Given the description of an element on the screen output the (x, y) to click on. 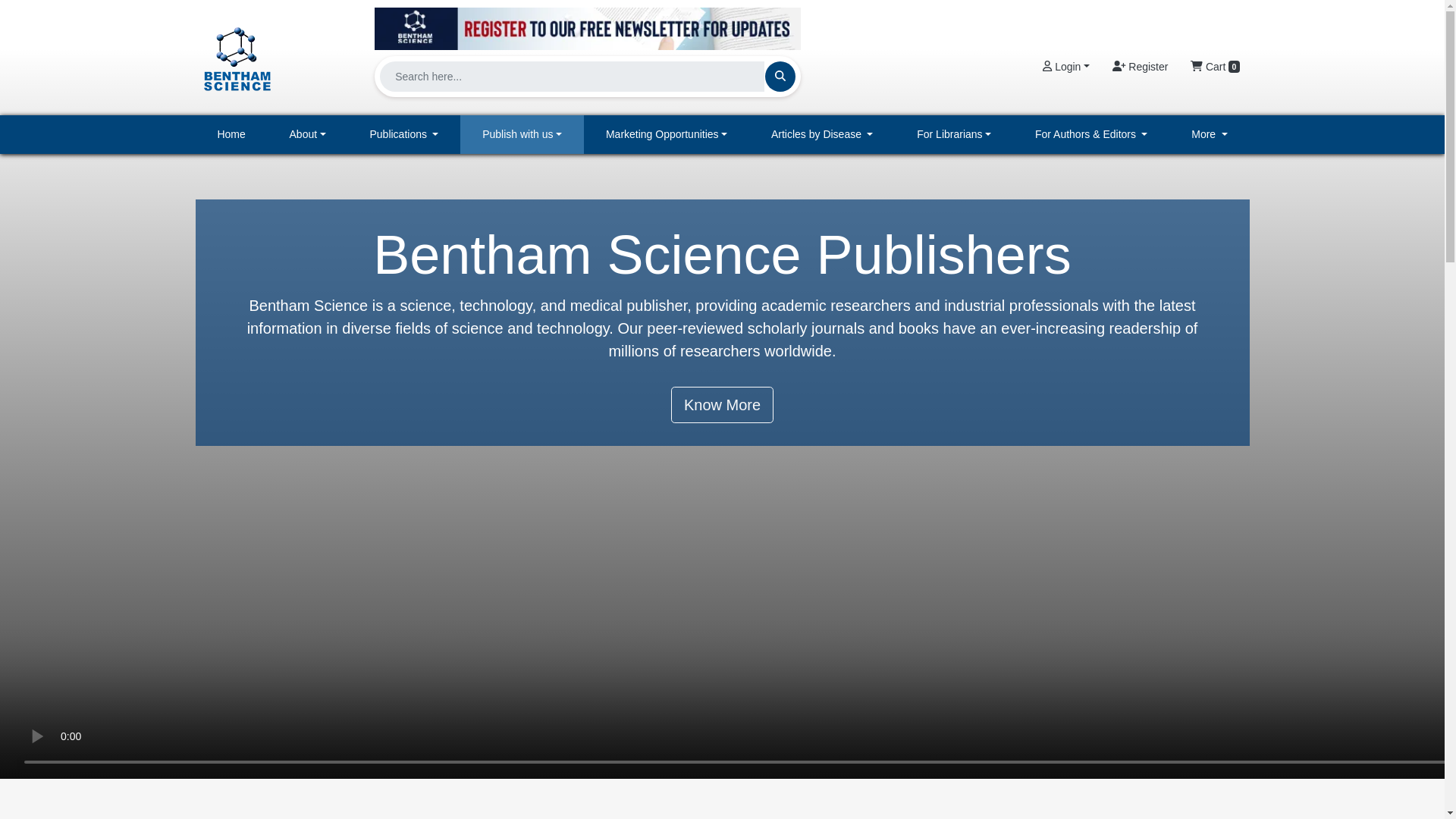
About (307, 134)
newsletter banner (587, 28)
Search Button (779, 76)
newsletter banner (587, 24)
Publications (404, 134)
Cart 0 (1214, 67)
Login (1065, 67)
Register (1139, 67)
Home (231, 134)
